Given the description of an element on the screen output the (x, y) to click on. 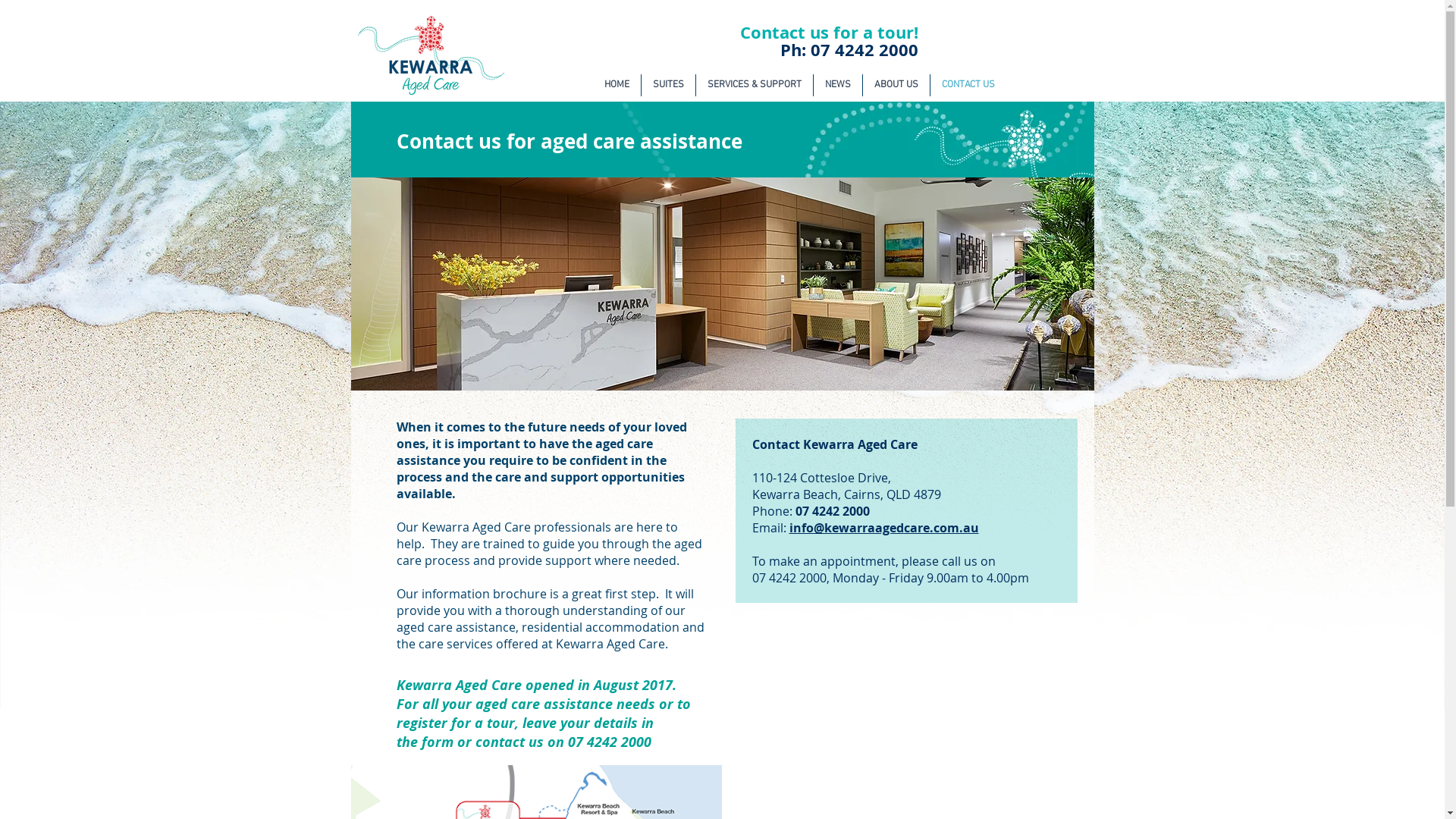
ABOUT US Element type: text (895, 85)
SERVICES & SUPPORT Element type: text (754, 85)
CONTACT US Element type: text (967, 85)
Site Search Element type: hover (1003, 48)
info@kewarraagedcare.com.au Element type: text (883, 527)
NEWS Element type: text (836, 85)
SUITES Element type: text (668, 85)
HOME Element type: text (616, 85)
